Given the description of an element on the screen output the (x, y) to click on. 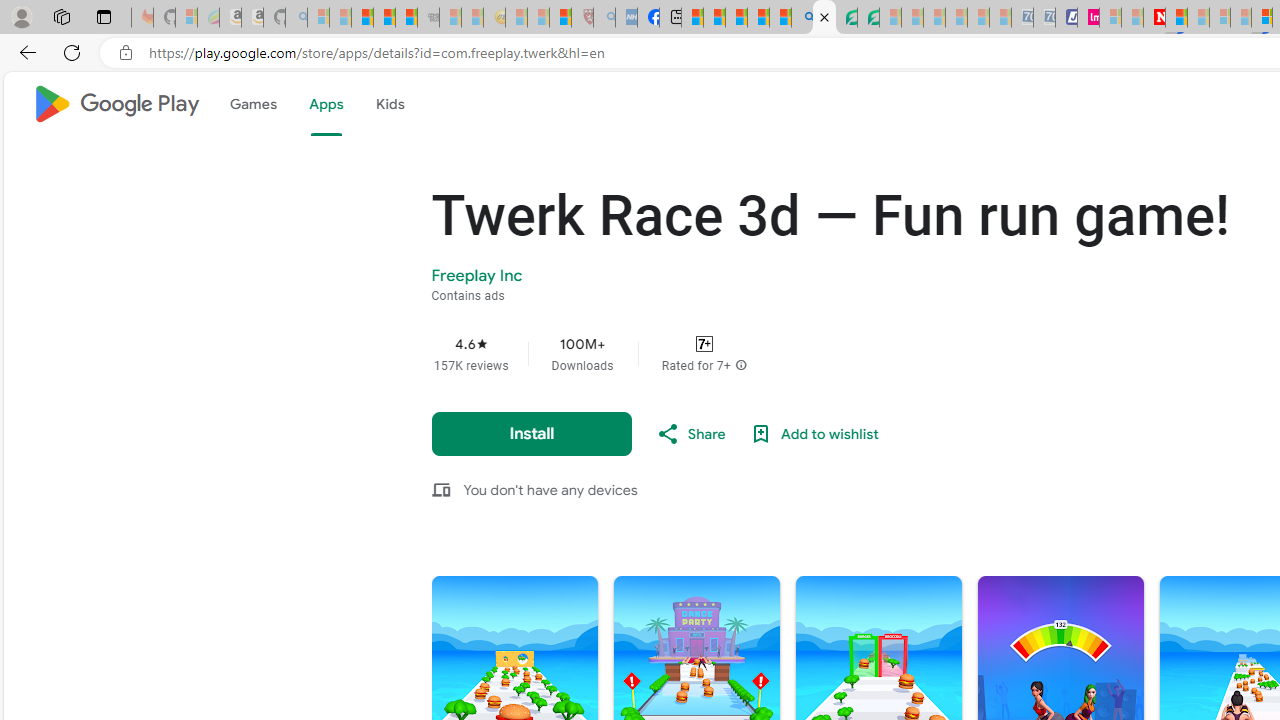
Back (24, 52)
Google Play logo (115, 104)
New tab (670, 17)
Close tab (824, 16)
Latest Politics News & Archive | Newsweek.com (1154, 17)
Refresh (72, 52)
New Report Confirms 2023 Was Record Hot | Watch (406, 17)
NCL Adult Asthma Inhaler Choice Guideline - Sleeping (626, 17)
Personal Profile (21, 16)
Kids (389, 104)
